Given the description of an element on the screen output the (x, y) to click on. 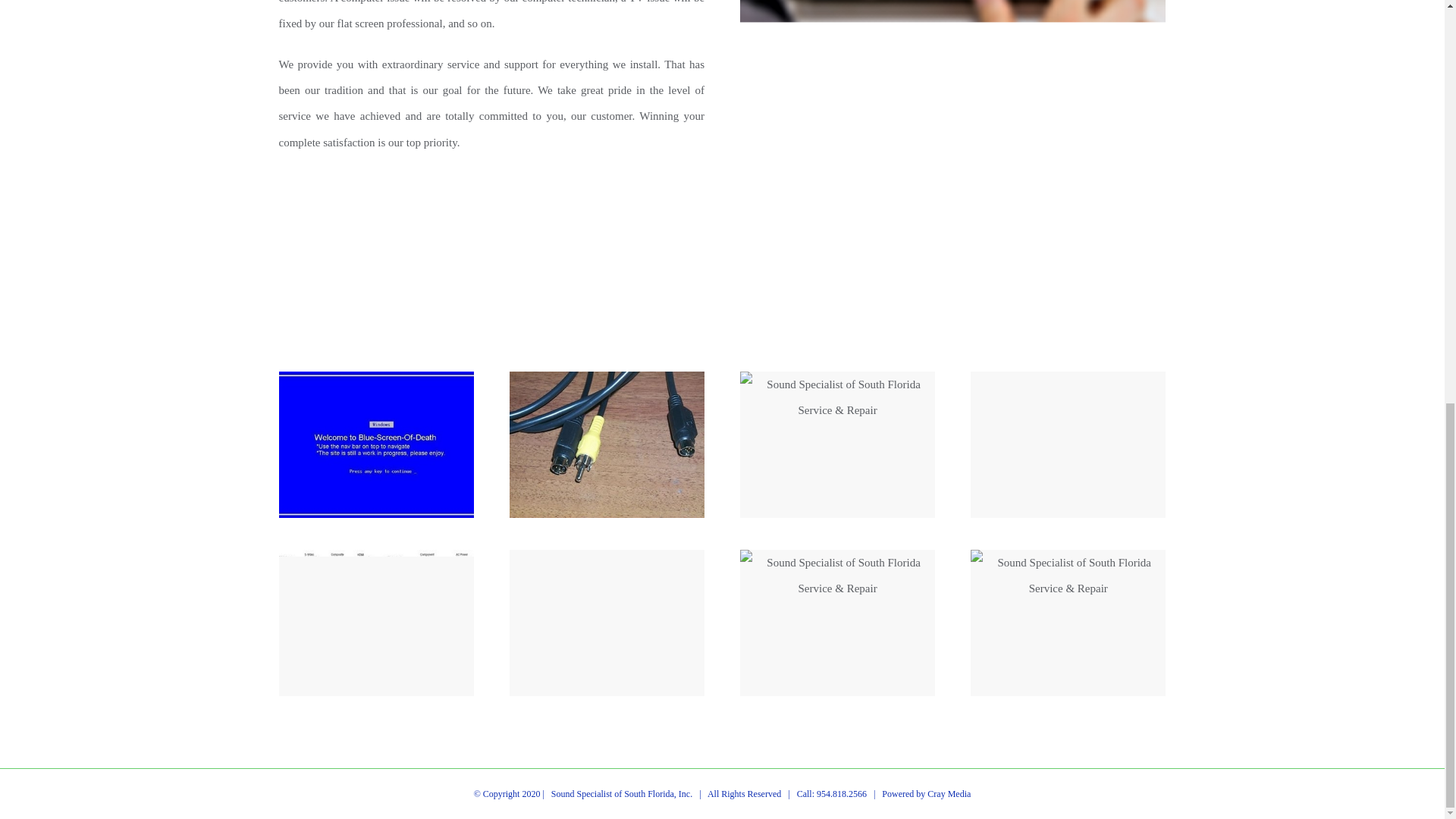
Cray Media (949, 793)
